Given the description of an element on the screen output the (x, y) to click on. 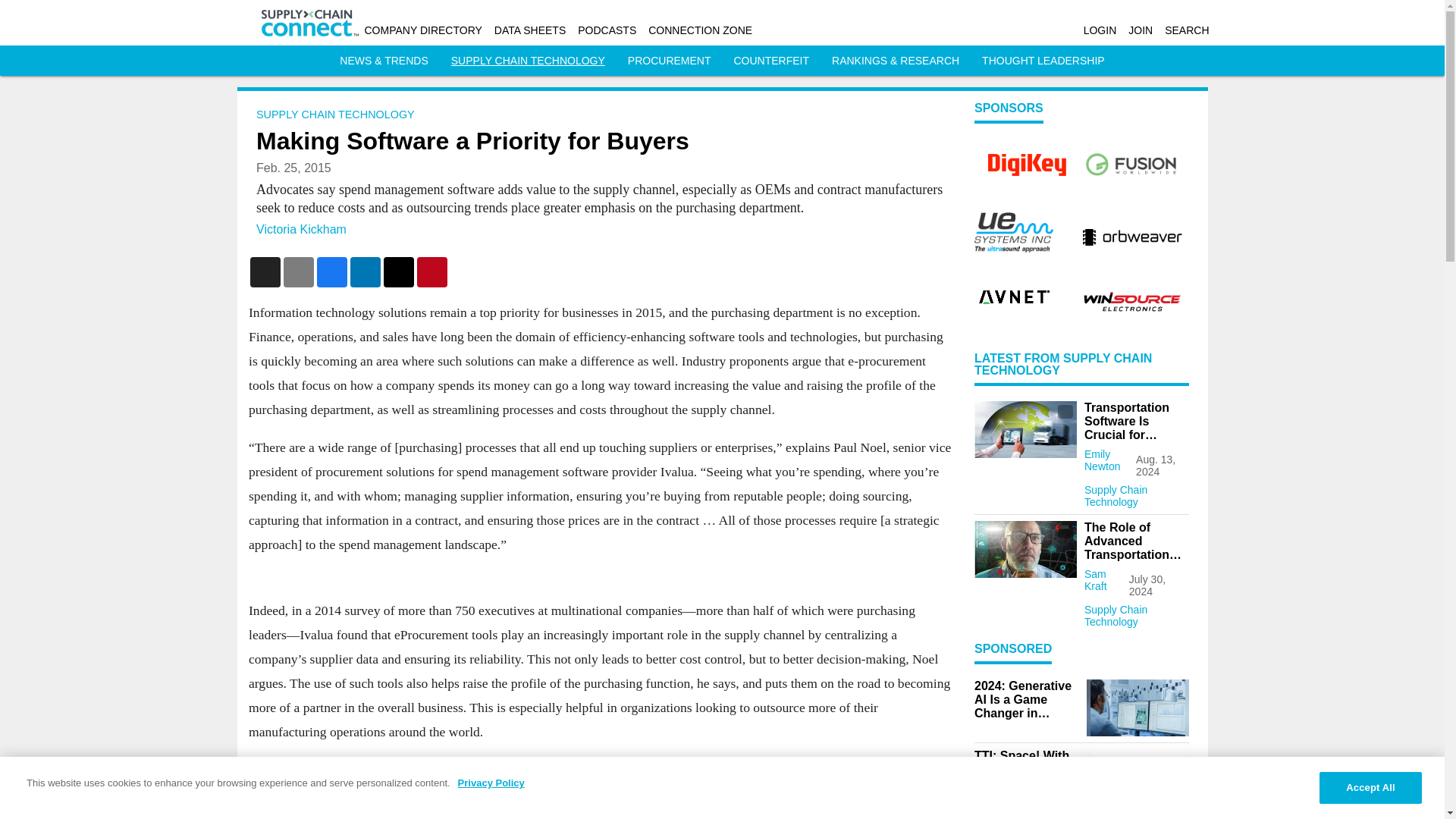
SUPPLY CHAIN TECHNOLOGY (528, 60)
SEARCH (1186, 30)
SUPPLY CHAIN TECHNOLOGY (335, 114)
COMPANY DIRECTORY (422, 30)
LOGIN (1099, 30)
PODCASTS (607, 30)
CONNECTION ZONE (699, 30)
DATA SHEETS (530, 30)
PROCUREMENT (669, 60)
THOUGHT LEADERSHIP (1043, 60)
